Given the description of an element on the screen output the (x, y) to click on. 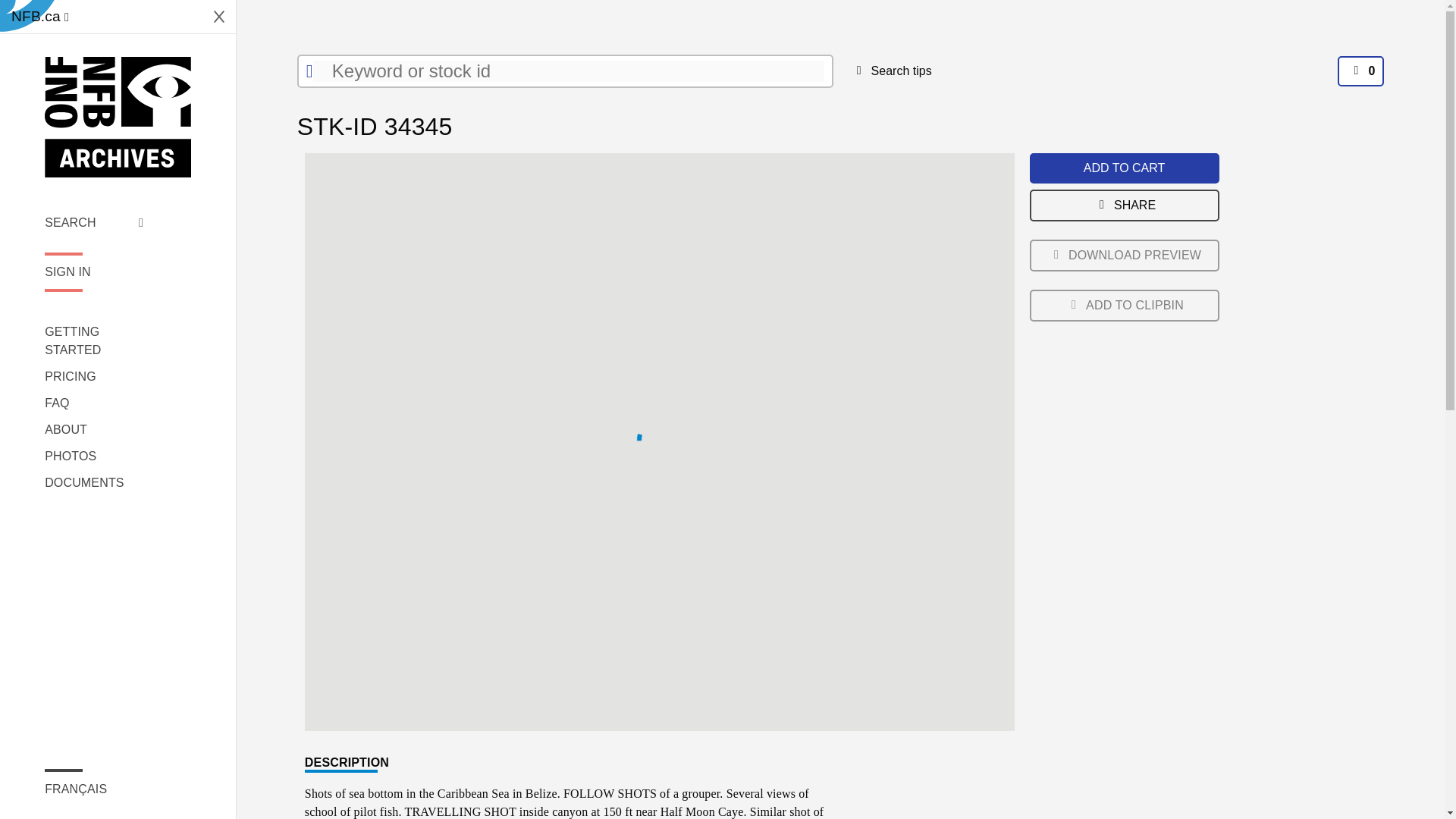
SIGN IN (93, 271)
GETTING STARTED (93, 340)
NFB.ca (39, 16)
ABOUT (93, 429)
DOWNLOAD PREVIEW (1124, 255)
National Film Board of Canada (117, 116)
DOCUMENTS (93, 483)
Watch films on NFB.ca (39, 16)
ADD TO CART (1124, 168)
PRICING (93, 376)
